Given the description of an element on the screen output the (x, y) to click on. 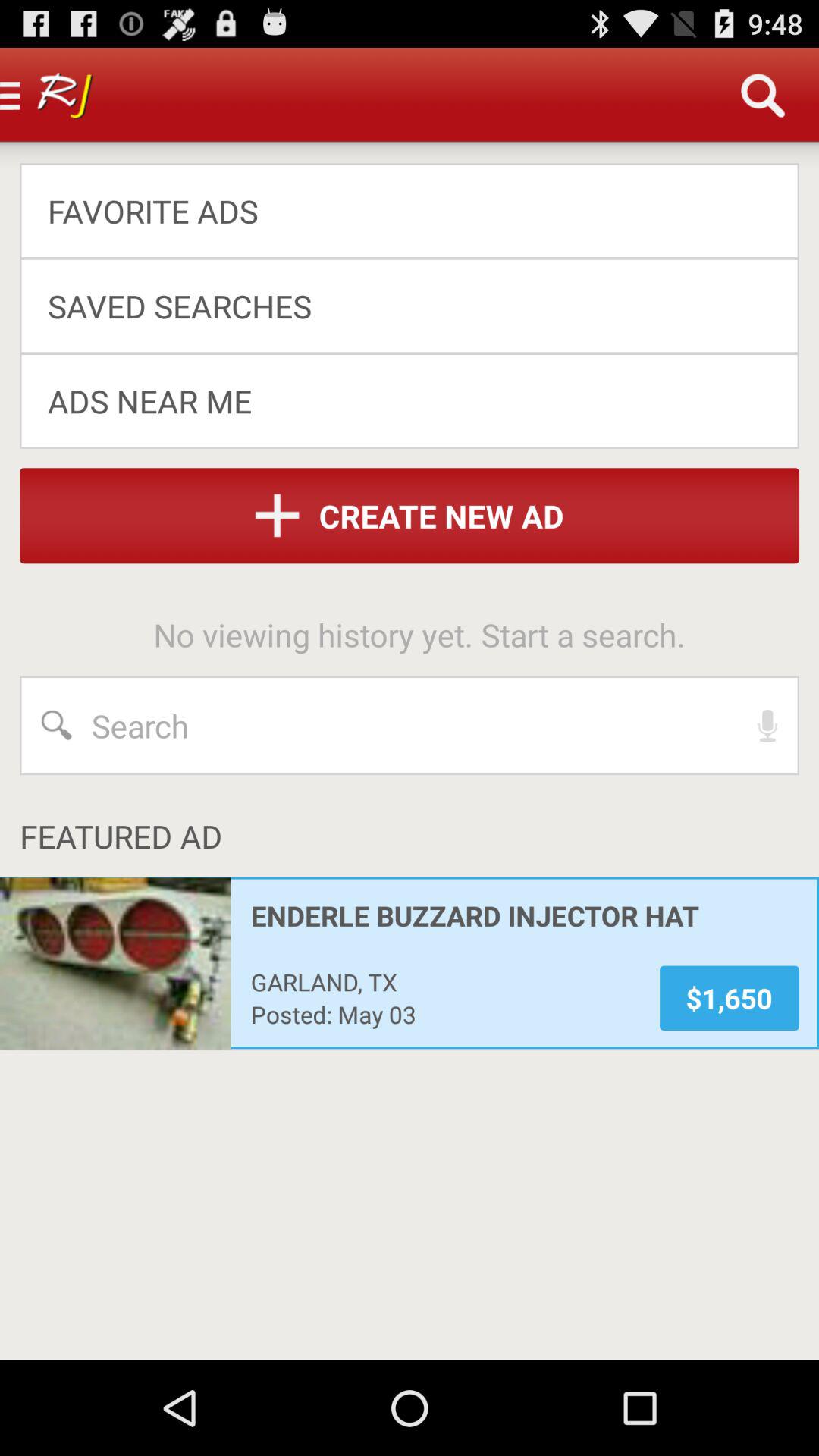
press item above the no viewing history app (409, 515)
